Given the description of an element on the screen output the (x, y) to click on. 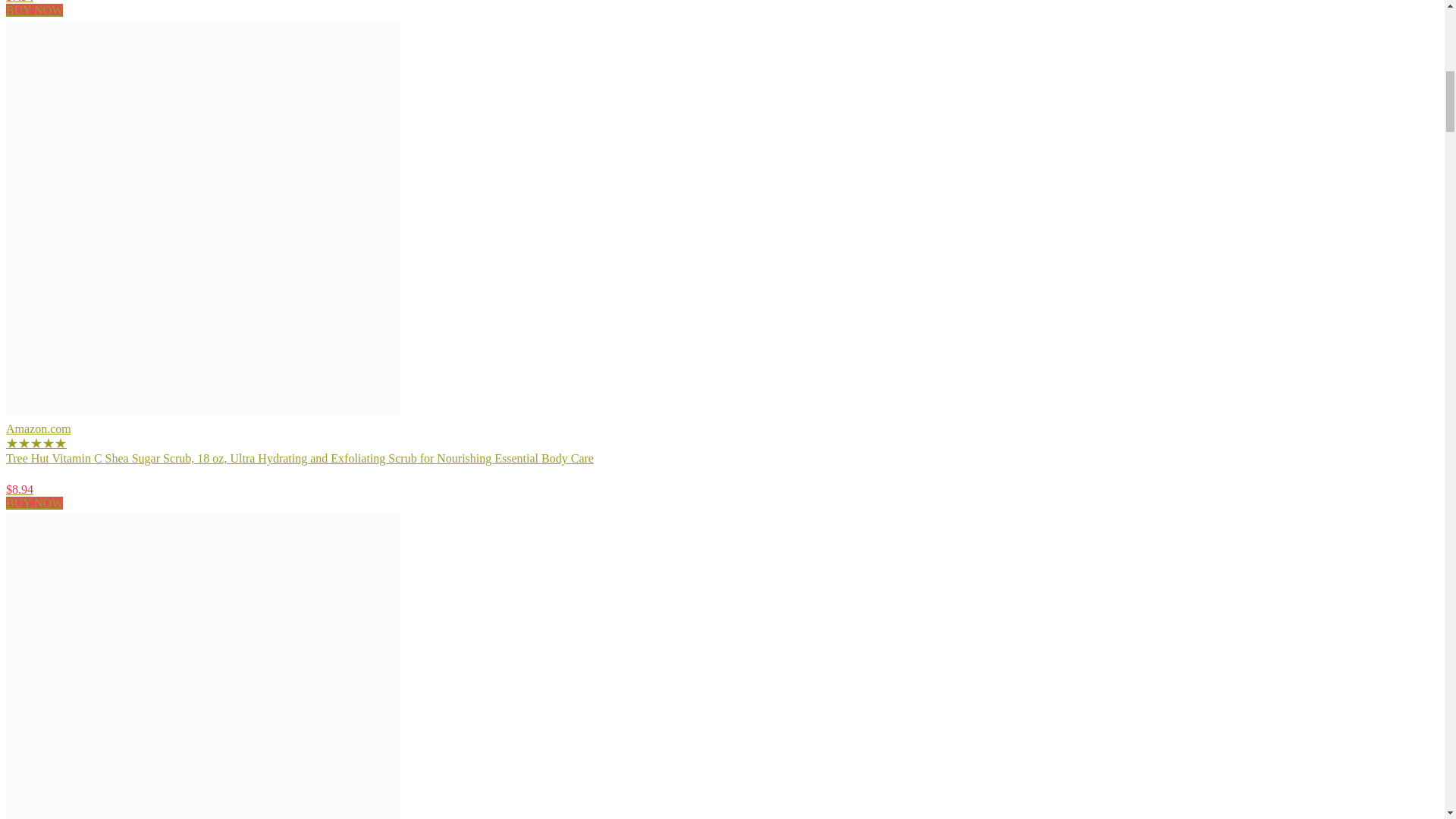
BUY NOW (33, 10)
BUY NOW (33, 502)
